Given the description of an element on the screen output the (x, y) to click on. 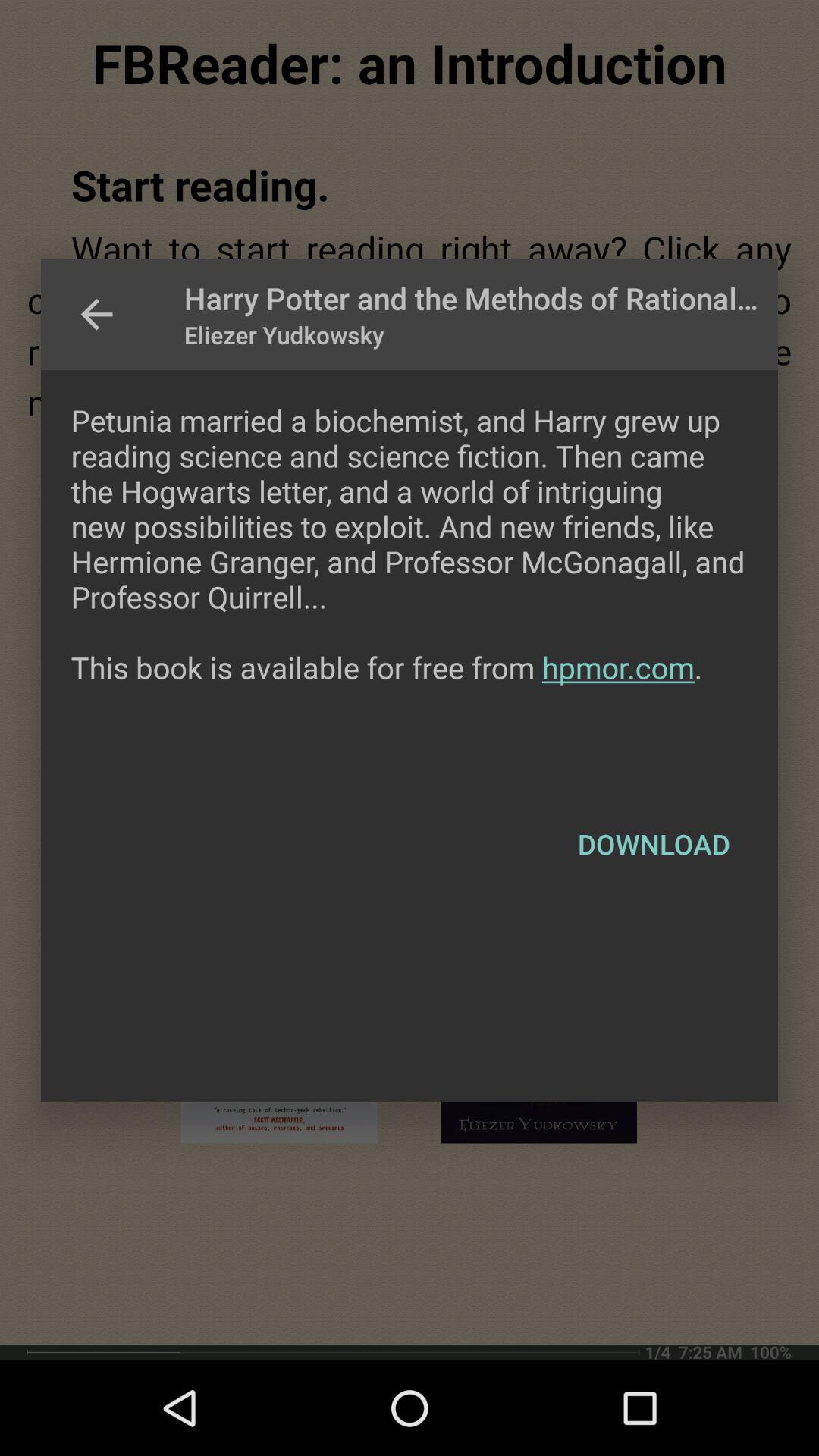
choose the petunia married a (409, 579)
